Given the description of an element on the screen output the (x, y) to click on. 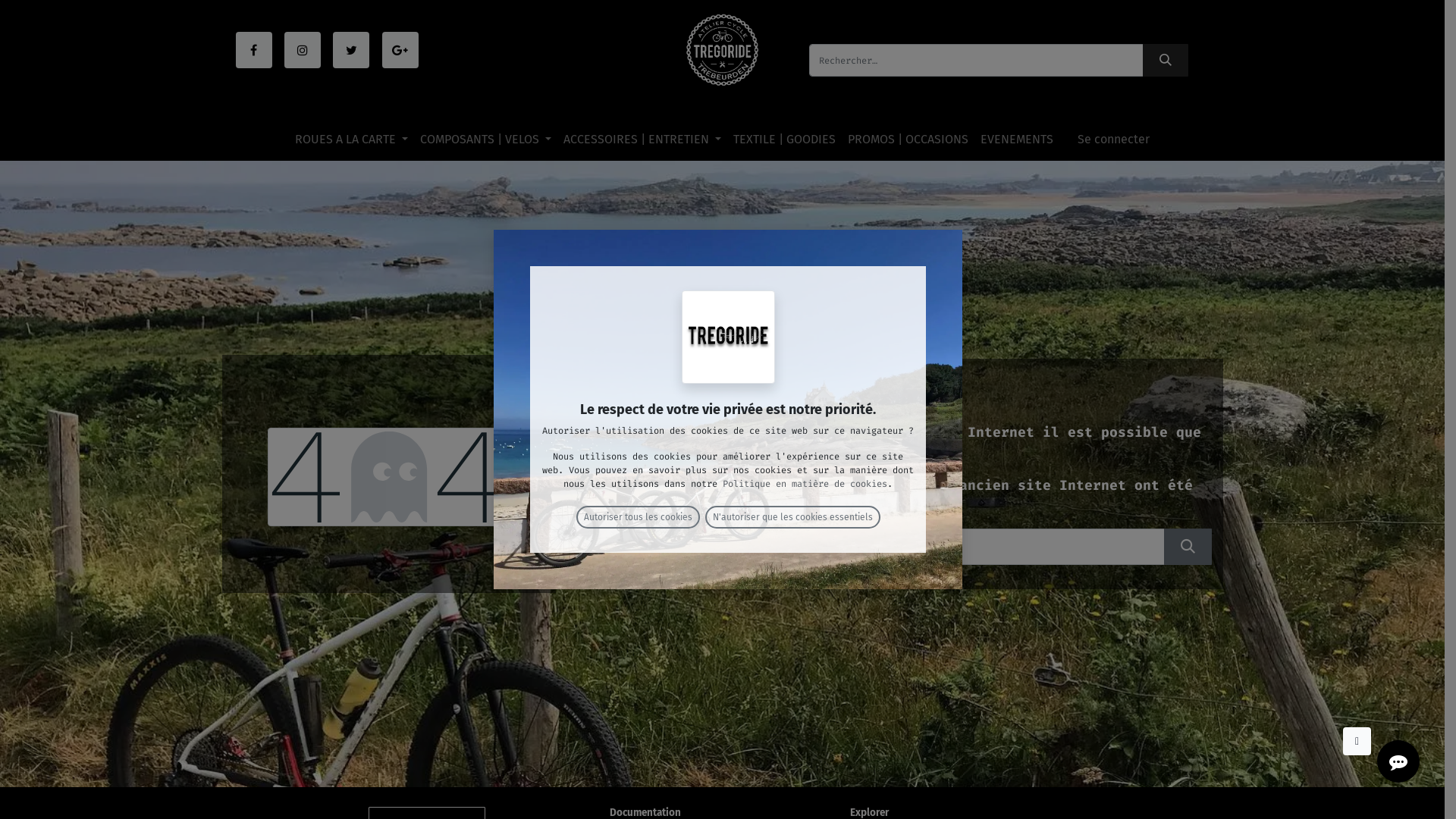
ROUES A LA CARTE Element type: text (351, 139)
Rechercher Element type: hover (1187, 546)
ACCESSOIRES | ENTRETIEN Element type: text (642, 139)
TREGORIDE Element type: hover (722, 49)
PROMOS | OCCASIONS Element type: text (907, 139)
N'autoriser que les cookies essentiels Element type: text (792, 516)
Autoriser tous les cookies Element type: text (637, 516)
COMPOSANTS | VELOS Element type: text (485, 139)
Rechercher Element type: hover (1165, 59)
TEXTILE | GOODIES Element type: text (784, 139)
Se connecter Element type: text (1113, 139)
EVENEMENTS Element type: text (1016, 139)
